Given the description of an element on the screen output the (x, y) to click on. 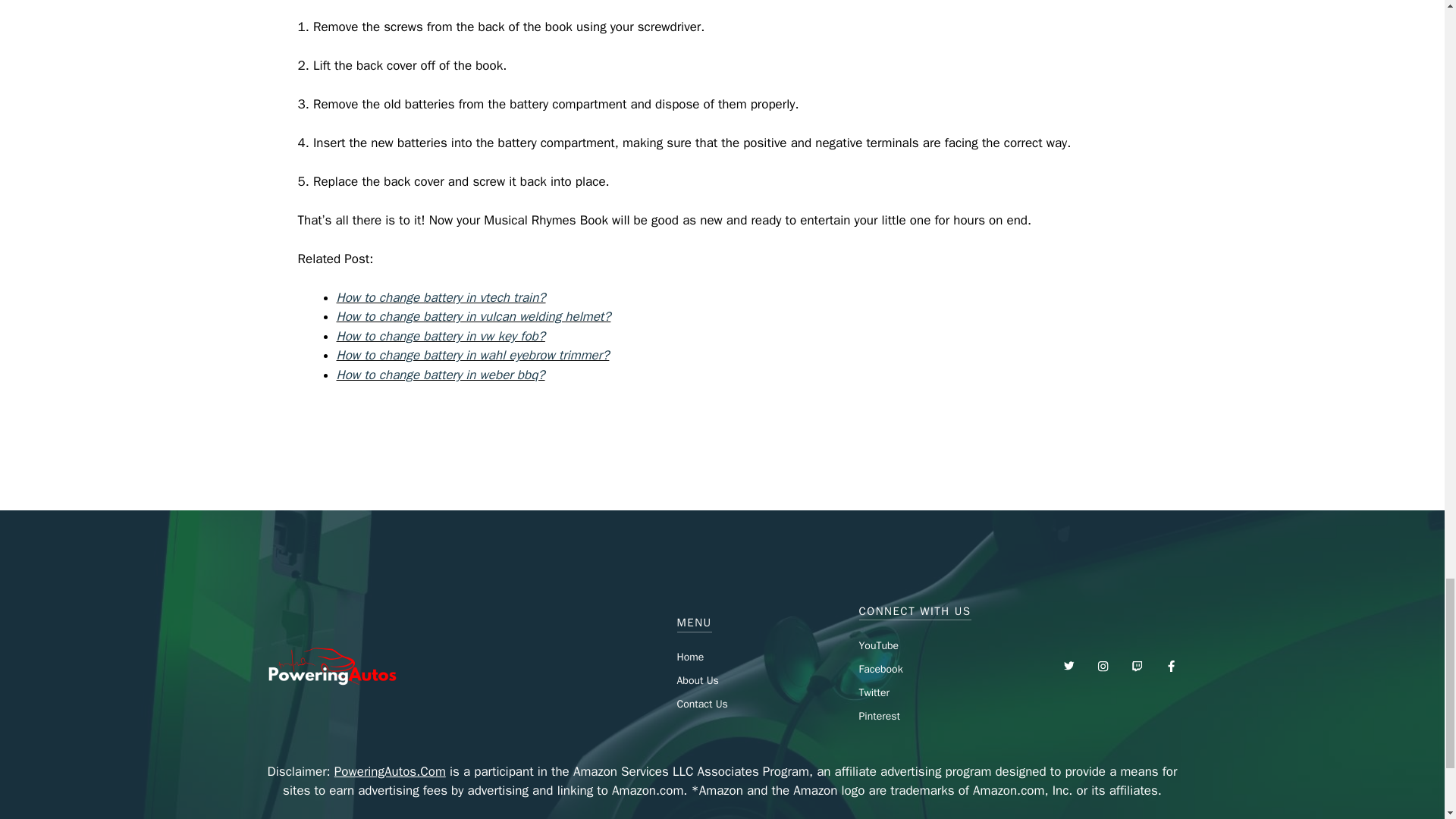
Home (690, 656)
Contact Us (701, 703)
How to change battery in vulcan welding helmet? (473, 316)
How to change battery in wahl eyebrow trimmer? (473, 355)
Pinterest (879, 716)
How to change battery in weber bbq? (440, 374)
How to change battery in vtech train? (441, 297)
YouTube (878, 645)
About Us (697, 680)
How to change battery in vw key fob? (440, 335)
